Given the description of an element on the screen output the (x, y) to click on. 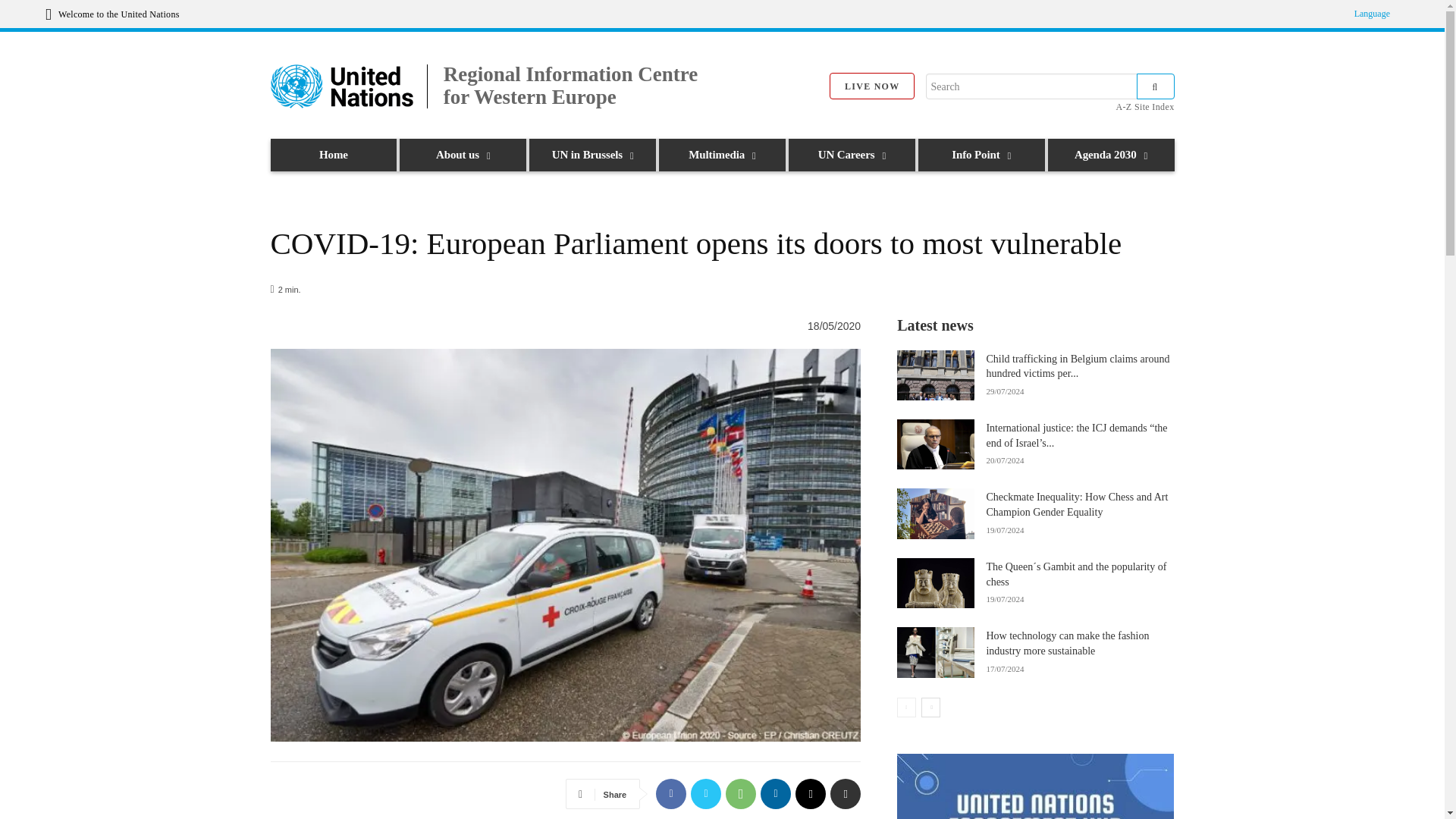
Live now (871, 85)
WhatsApp (740, 793)
Welcome to the United Nations (112, 13)
Facebook (670, 793)
Linkedin (775, 793)
Twitter (705, 793)
Email (809, 793)
